Given the description of an element on the screen output the (x, y) to click on. 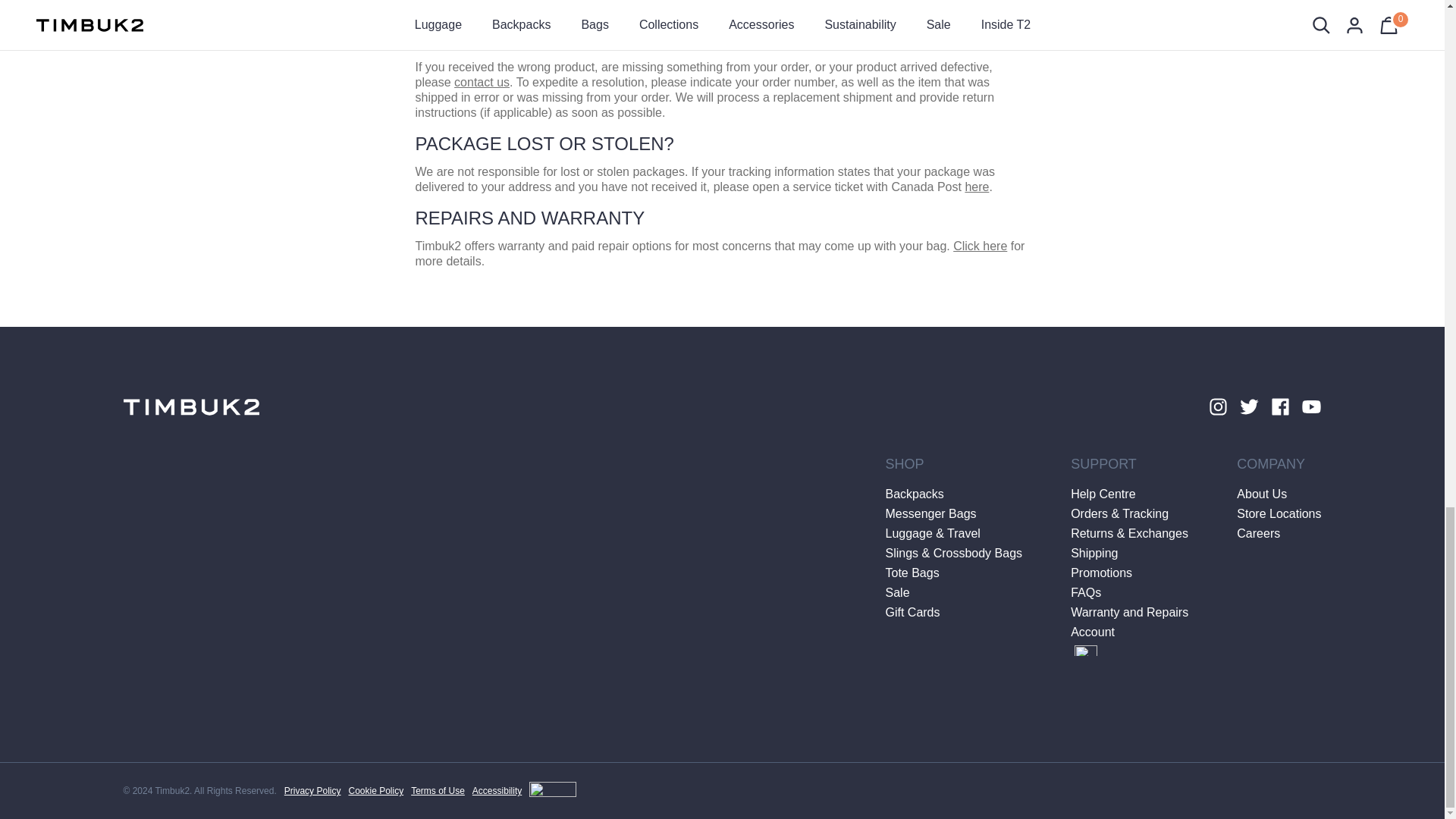
Timbuk2 Canada on Twitter (1249, 406)
Timbuk2 Canada on Instagram (1217, 406)
Timbuk2 Canada on Facebook (1279, 406)
Timbuk2 Canada on YouTube (1311, 406)
Accessibility (523, 791)
